Given the description of an element on the screen output the (x, y) to click on. 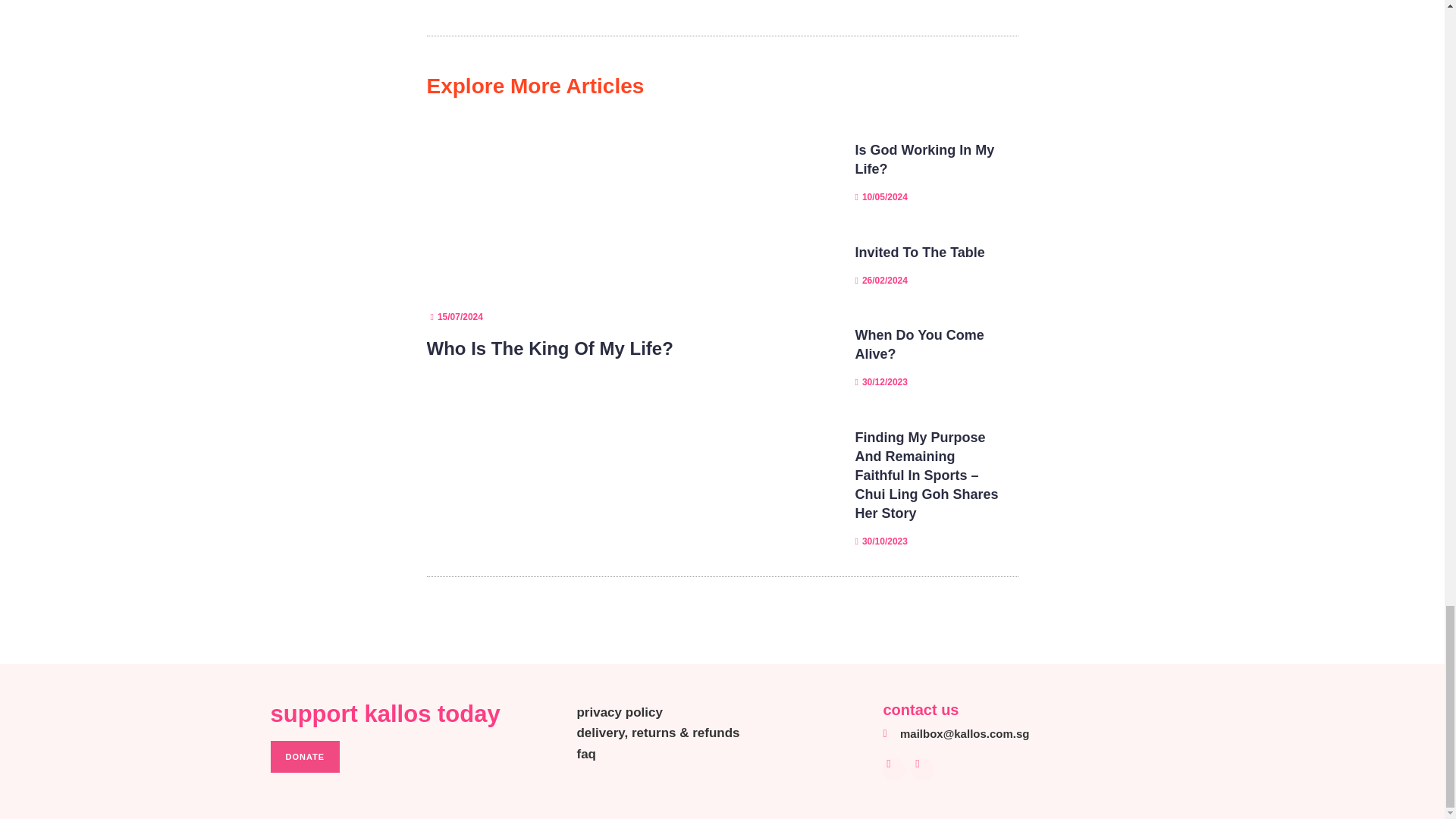
Invited to the Table (920, 252)
Is God Working In My Life? (925, 159)
Is God Working In My Life? (925, 159)
Who is the King of my Life? (549, 348)
Who Is The King Of My Life? (549, 348)
When Do You Come Alive? (920, 344)
